Given the description of an element on the screen output the (x, y) to click on. 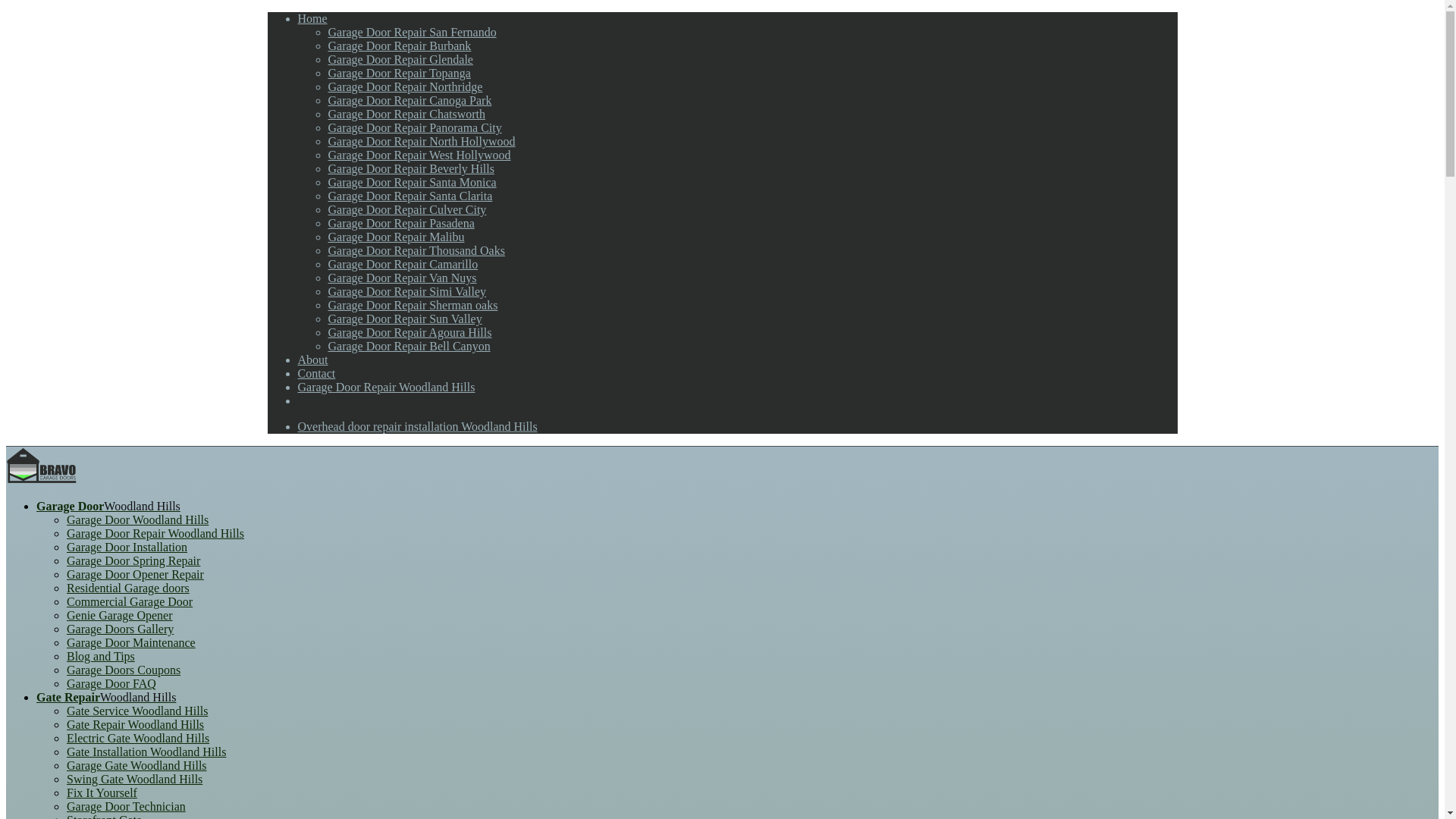
Overhead door repair installation Woodland Hills (417, 426)
Garage Door Woodland Hills (137, 519)
Residential Garage doors (127, 587)
Garage Door Repair Canoga Park (409, 100)
Garage Door Repair Beverly Hills (410, 168)
Garage Door Repair Panorama City (413, 127)
Garage Door Repair Camarillo (402, 264)
Garage Door Spring Repair (133, 560)
Garage Door Repair Topanga (398, 72)
Garage Door Opener Repair (134, 574)
Garage Door Repair Culver City (406, 209)
Garage Door Repair Thousand Oaks (415, 250)
Garage Doors Gallery (119, 628)
Garage Door Repair Santa Clarita (409, 195)
Garage DoorWoodland Hills (108, 505)
